Given the description of an element on the screen output the (x, y) to click on. 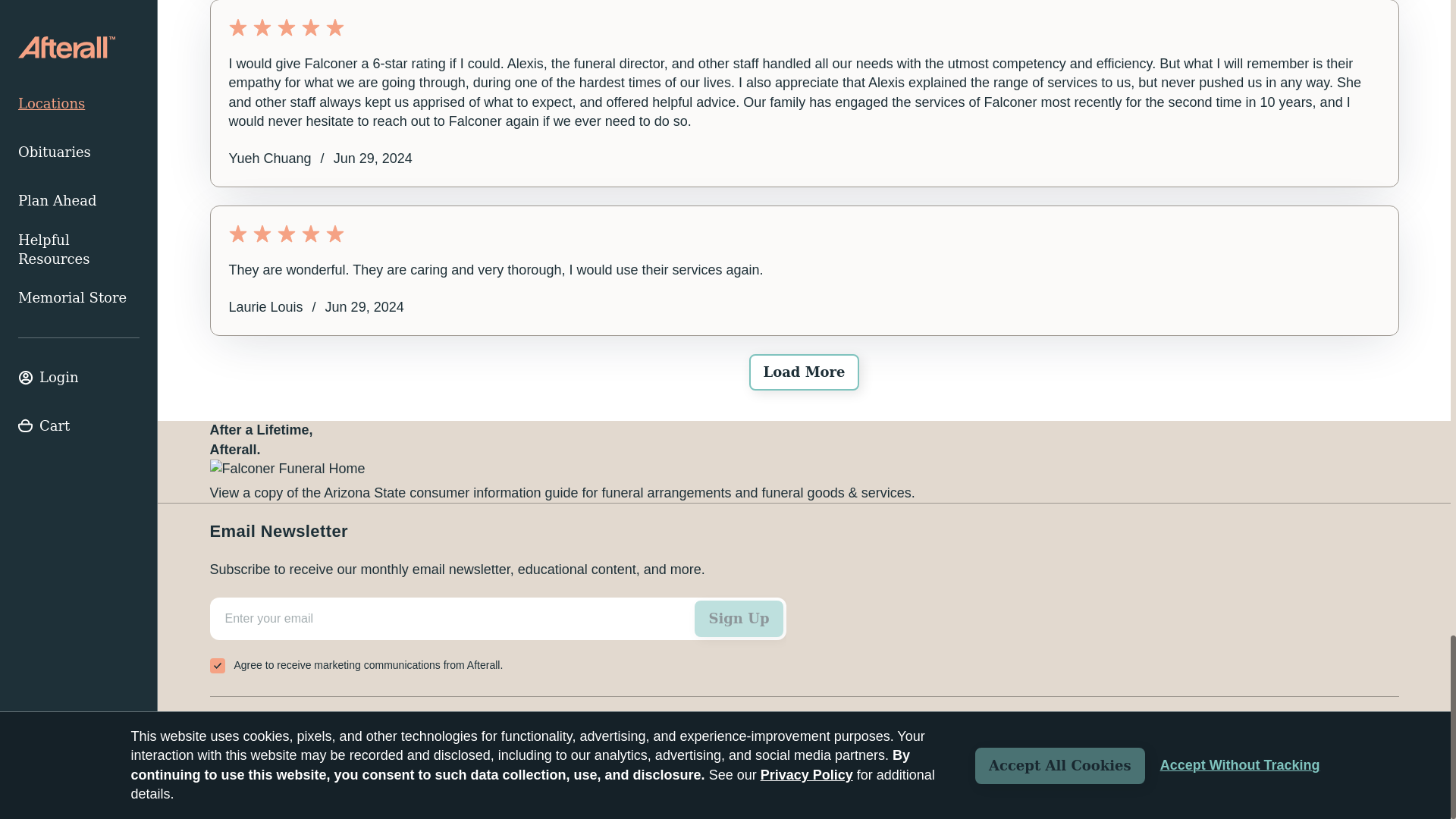
5 out of 5 Customer Rating (804, 27)
5 out of 5 Customer Rating (804, 233)
